Given the description of an element on the screen output the (x, y) to click on. 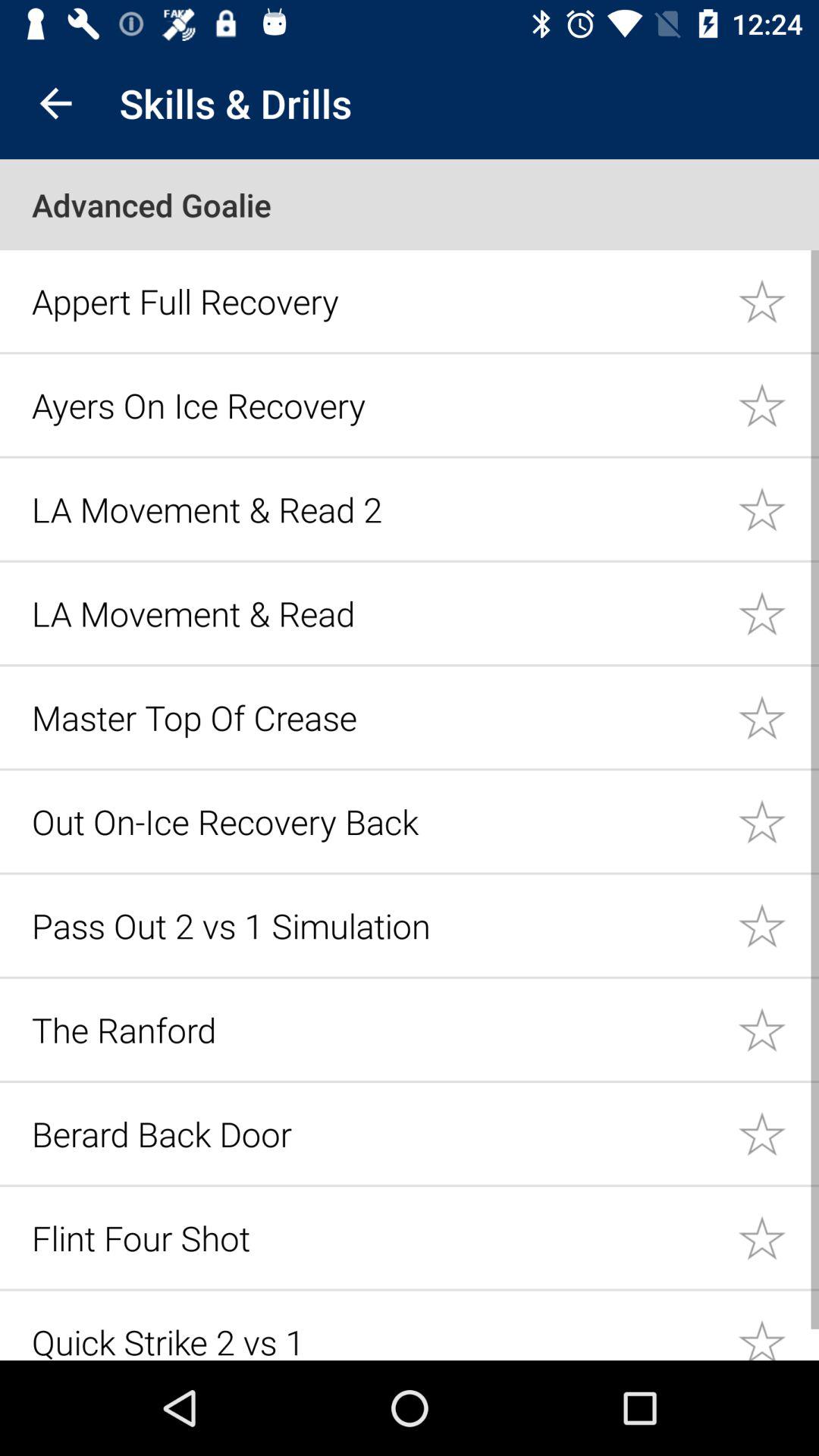
highlight star (778, 717)
